Given the description of an element on the screen output the (x, y) to click on. 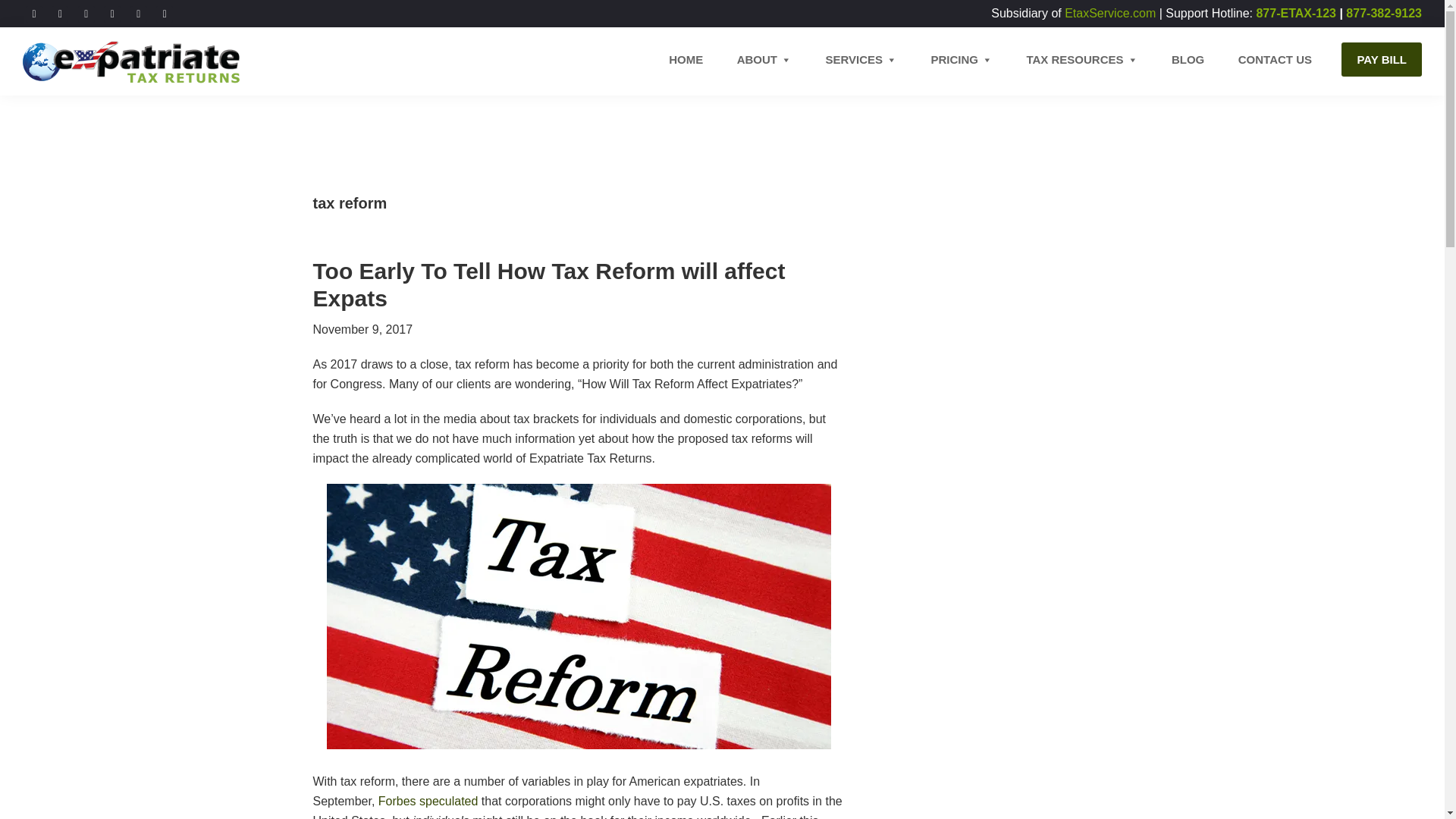
BLOG (1188, 59)
Expatriate Tax Returns (59, 110)
PRICING (961, 59)
Default Label (111, 12)
TAX RESOURCES (1081, 59)
facebook (34, 12)
PAY BILL (1381, 59)
SERVICES (860, 59)
CONTACT US (1274, 59)
Default Label (139, 12)
